Given the description of an element on the screen output the (x, y) to click on. 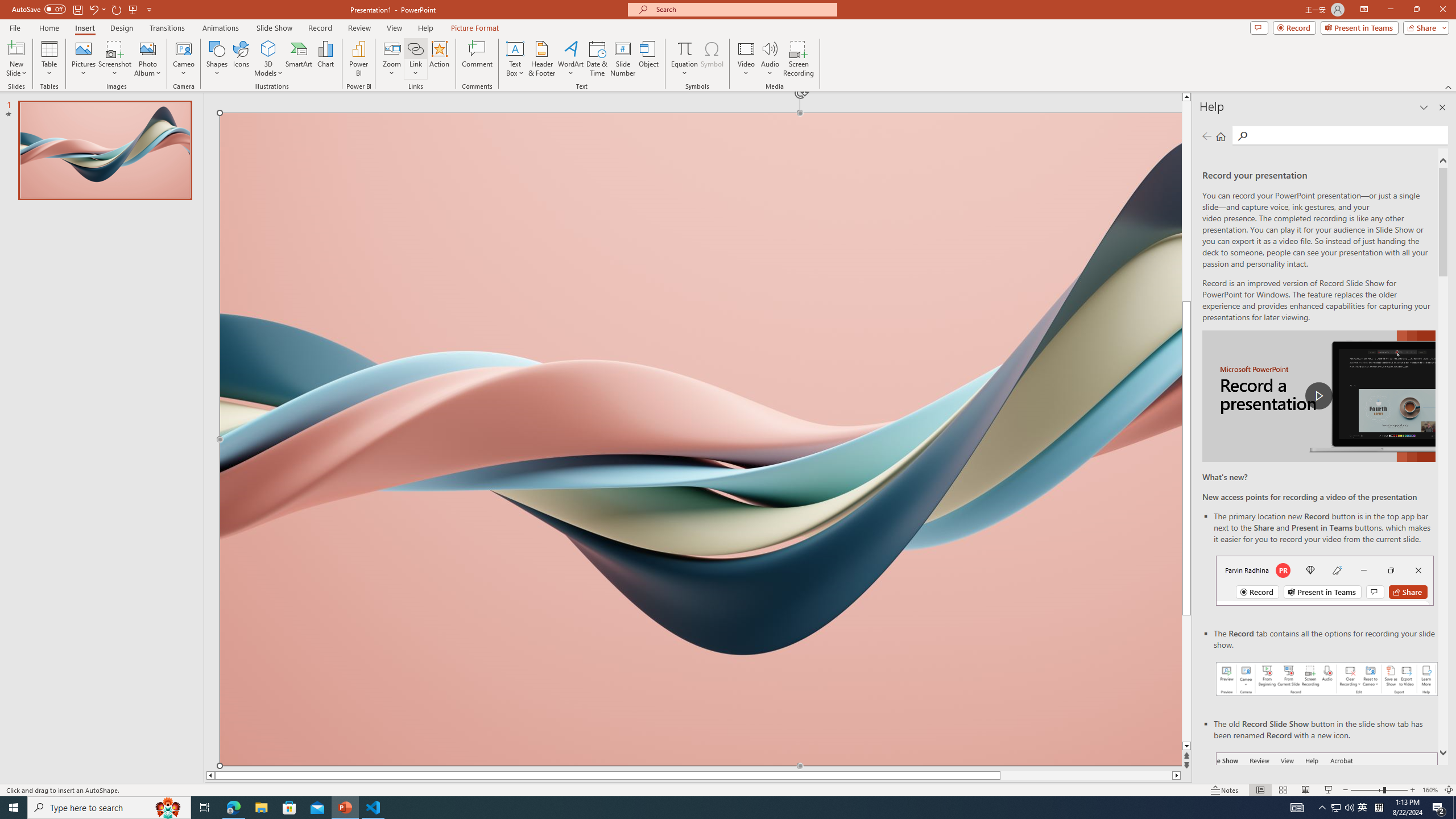
Table (49, 58)
New Photo Album... (147, 48)
Wavy 3D art (700, 439)
Link (415, 58)
Action (439, 58)
SmartArt... (298, 58)
play Record a Presentation (1318, 395)
